Given the description of an element on the screen output the (x, y) to click on. 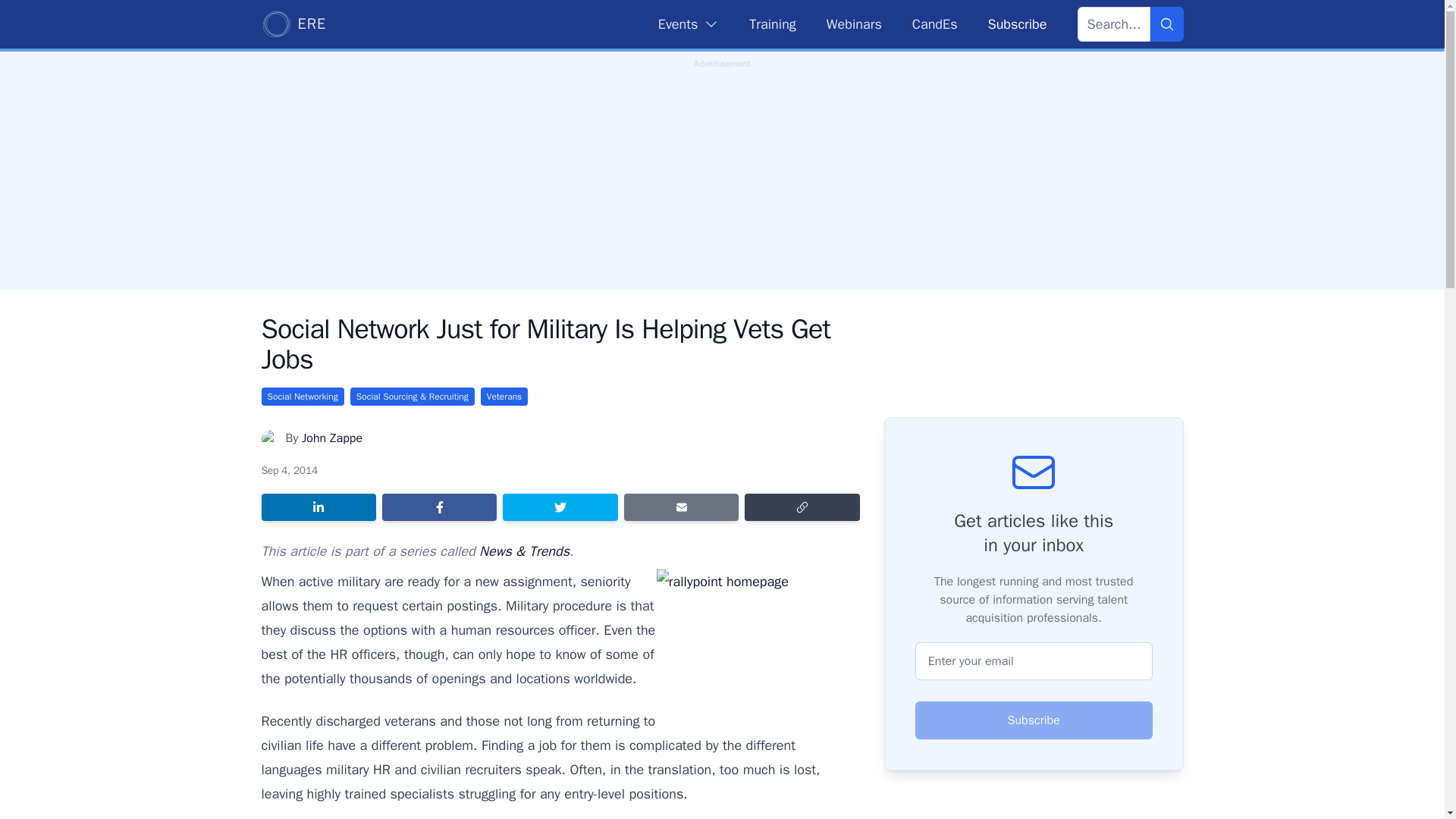
ERE (293, 24)
Events (688, 24)
Training (771, 24)
Webinars (854, 24)
Subscribe (1034, 720)
John Zappe (331, 437)
CandEs (935, 24)
Veterans (504, 396)
Social Networking (301, 396)
Subscribe (1016, 24)
